Given the description of an element on the screen output the (x, y) to click on. 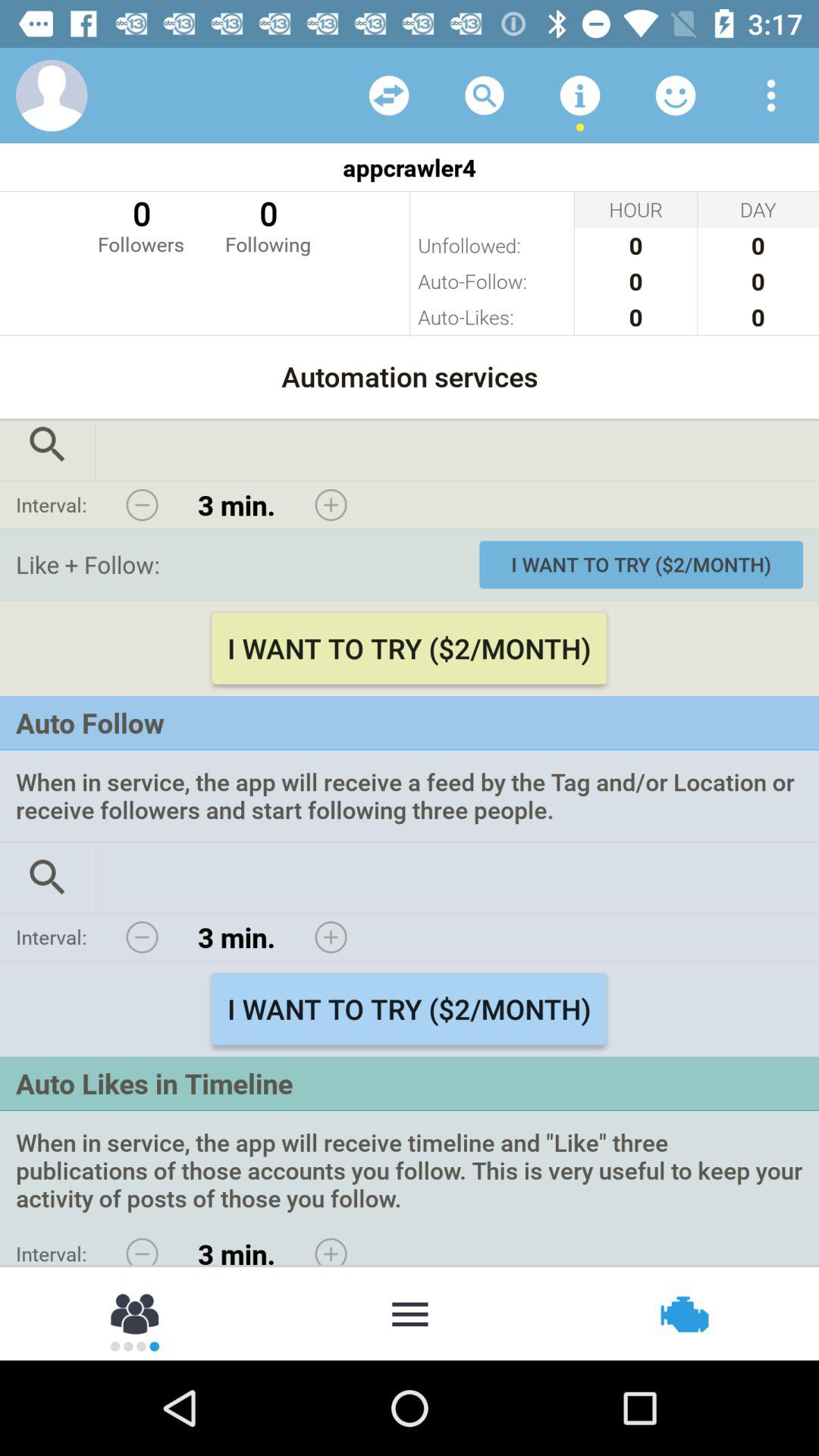
flip until 0
followers icon (140, 224)
